Given the description of an element on the screen output the (x, y) to click on. 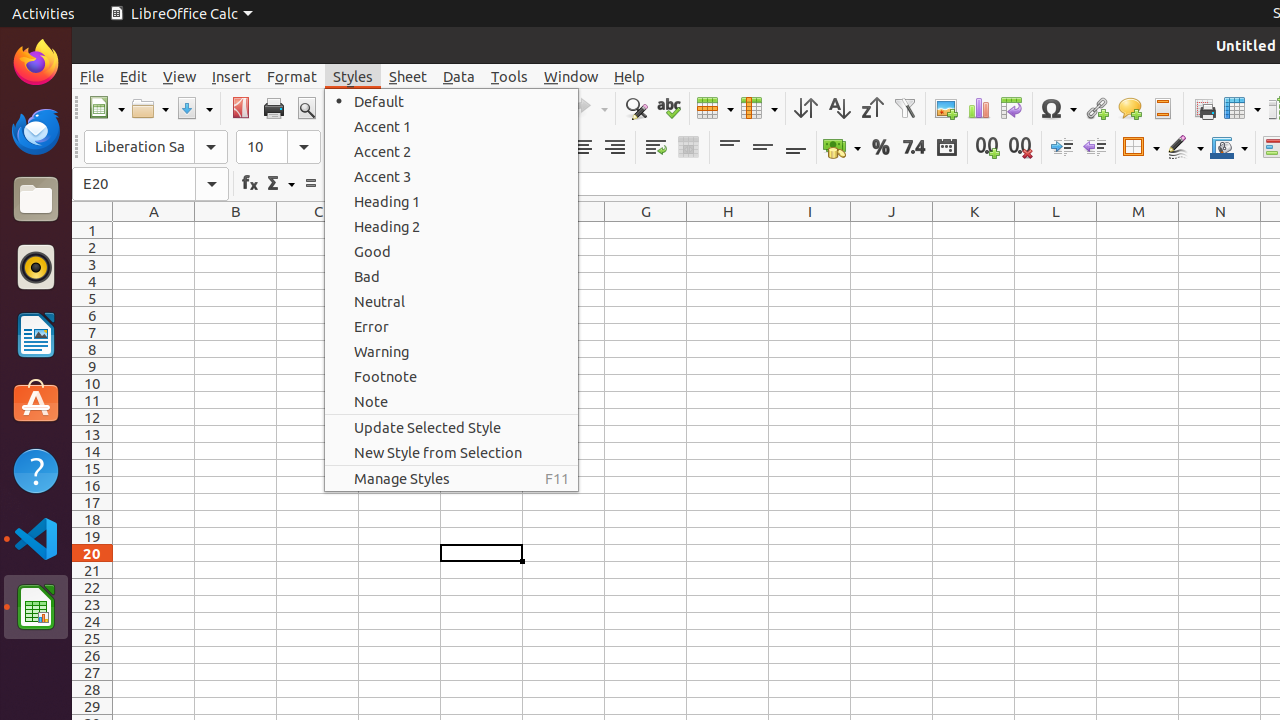
Heading 1 Element type: radio-menu-item (451, 201)
Font Name Element type: combo-box (156, 147)
Manage Styles Element type: menu-item (451, 478)
N1 Element type: table-cell (1220, 230)
Print Preview Element type: toggle-button (306, 108)
